Given the description of an element on the screen output the (x, y) to click on. 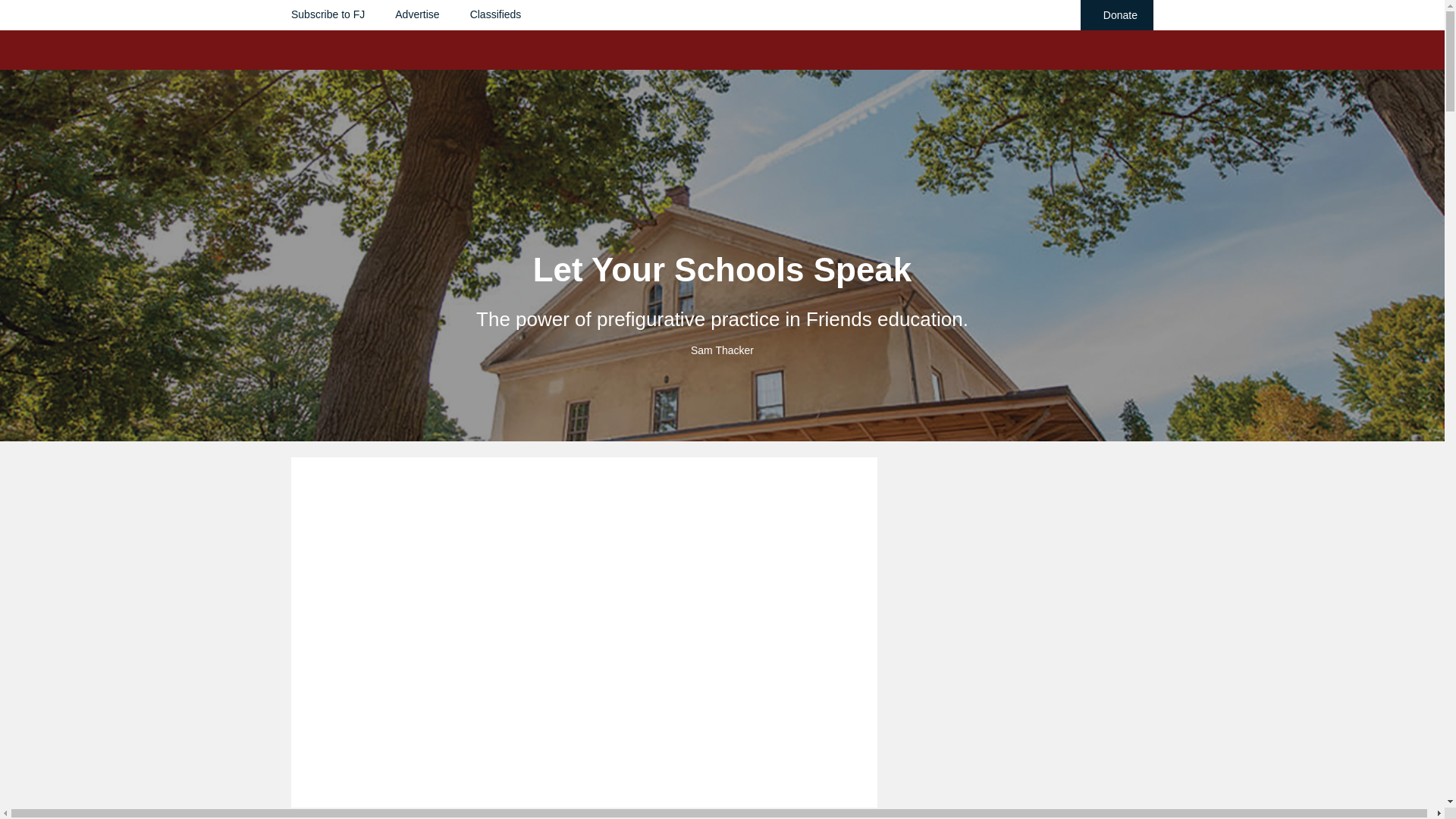
Donate (1116, 15)
Write for Us (672, 108)
Classifieds (495, 14)
About (1102, 108)
Archives (737, 108)
Quaker.org (1043, 108)
QuakerSpeak (907, 108)
Book Reviews (810, 108)
Advertise (416, 14)
